Given the description of an element on the screen output the (x, y) to click on. 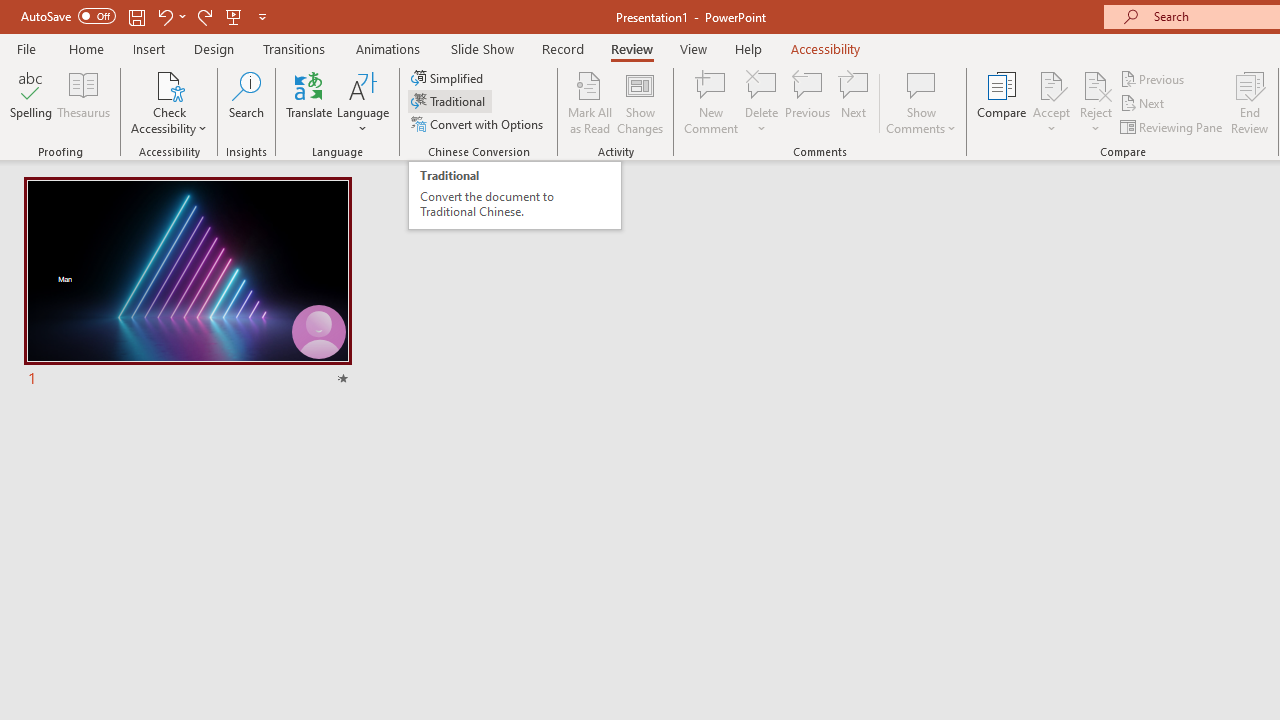
Simplified (449, 78)
Reviewing Pane (1172, 126)
End Review (1249, 102)
Show Changes (639, 102)
Reject (1096, 102)
Accept (1051, 102)
